Given the description of an element on the screen output the (x, y) to click on. 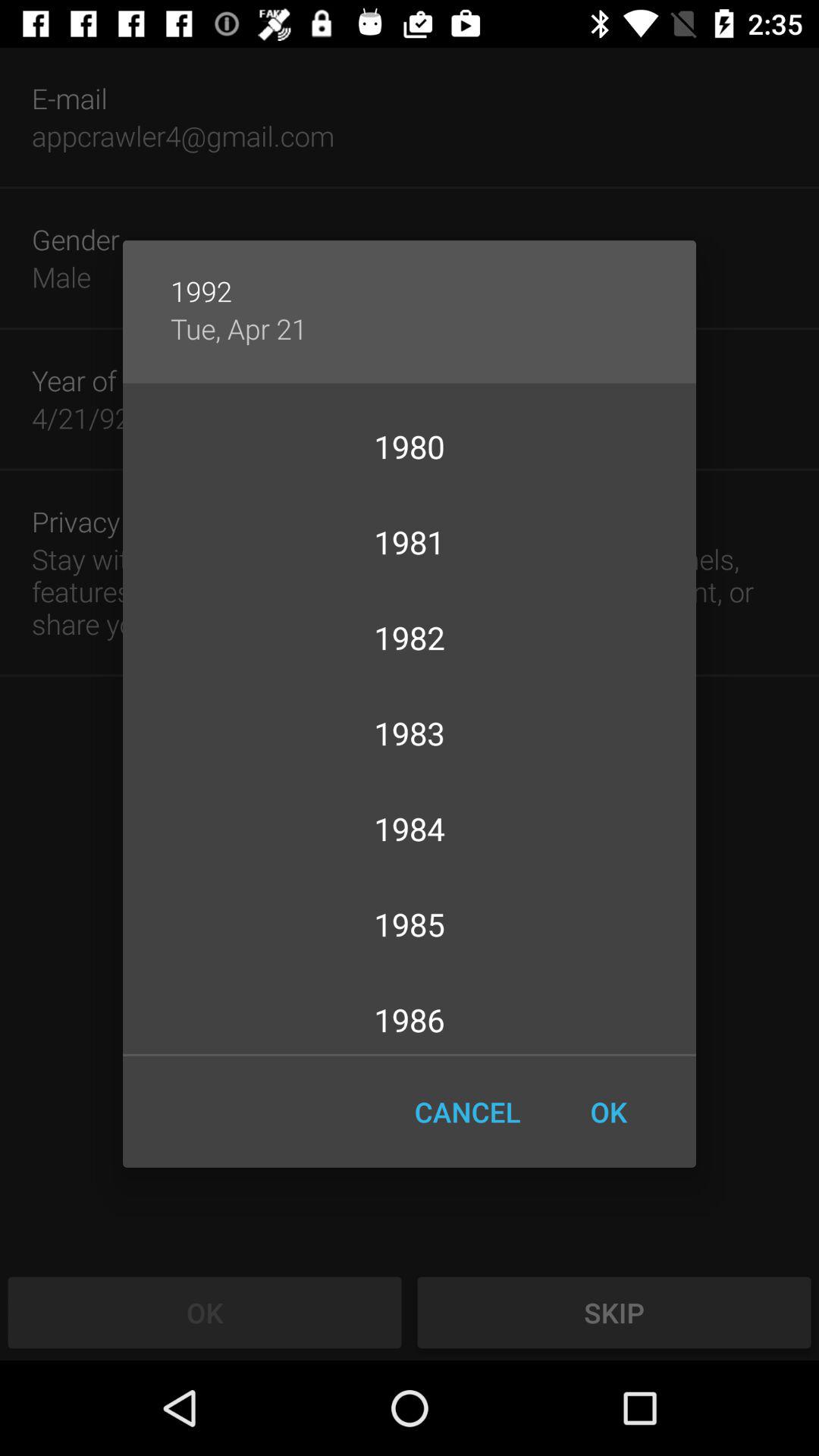
tap icon above 1979 (238, 328)
